Given the description of an element on the screen output the (x, y) to click on. 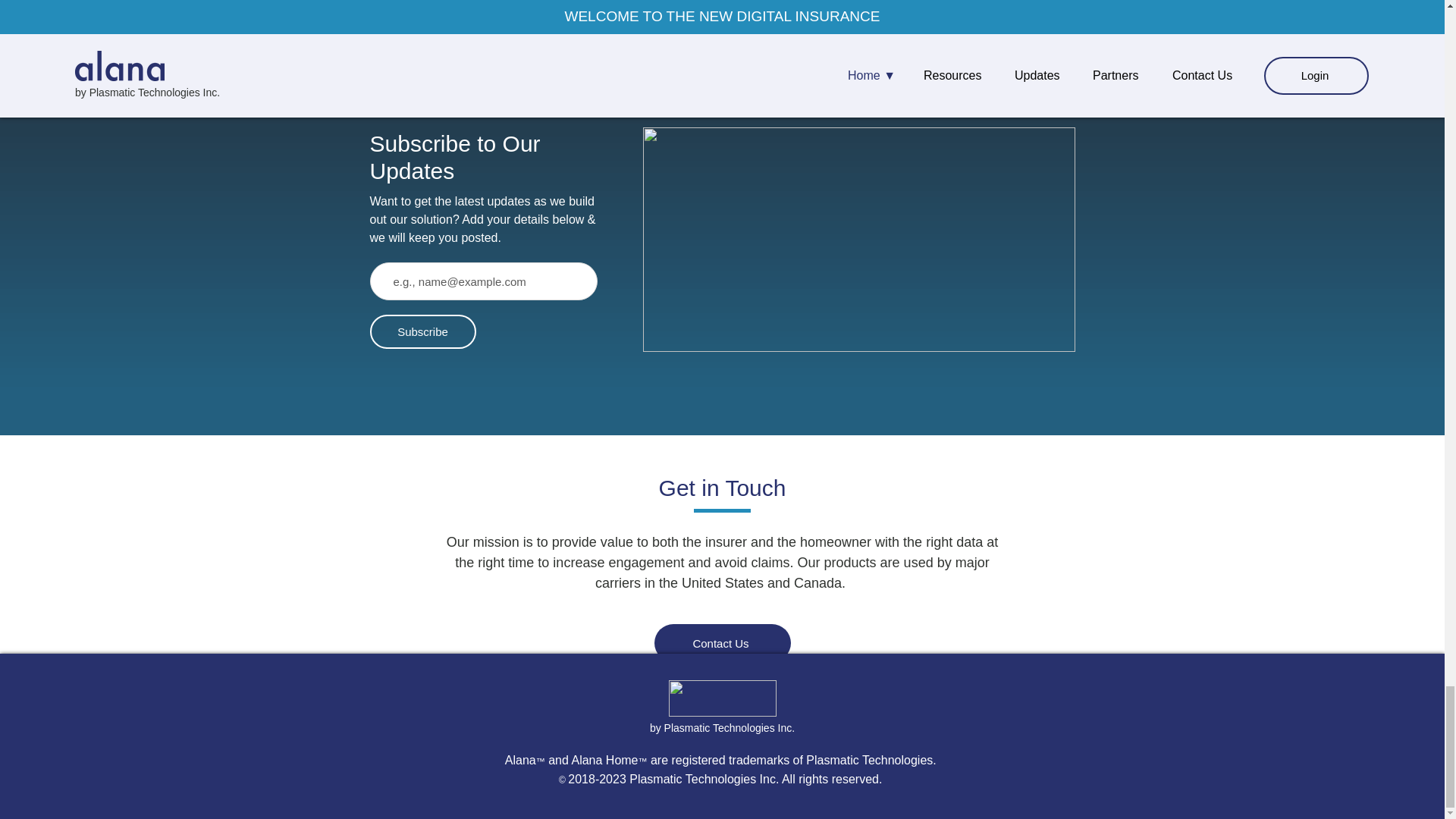
Contact Us (721, 642)
by Plasmatic Technologies Inc. (721, 727)
Subscribe (422, 331)
